Given the description of an element on the screen output the (x, y) to click on. 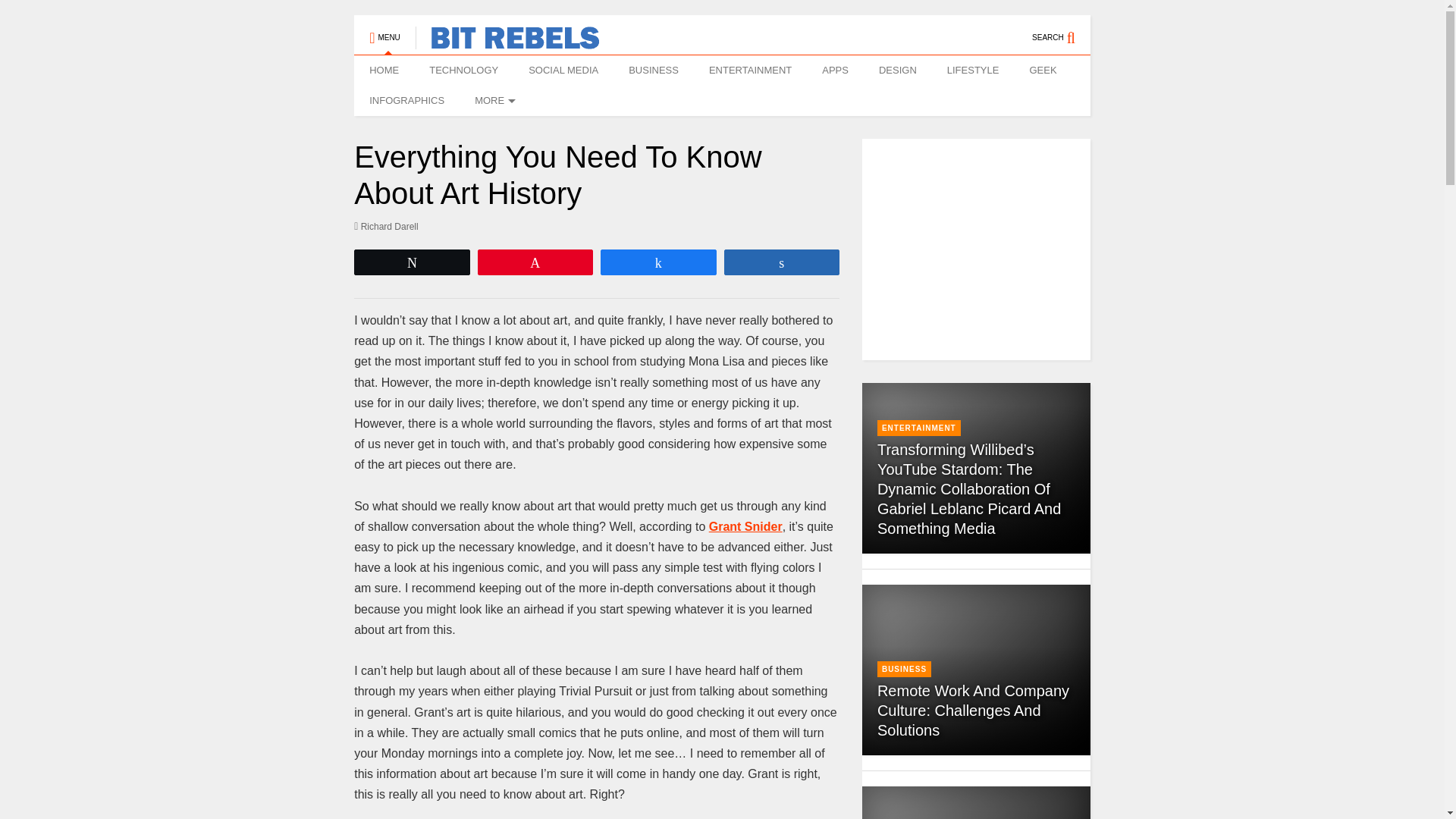
ENTERTAINMENT (750, 70)
APPS (834, 70)
HOME (383, 70)
Grant Snider - Website (746, 526)
Remote Work And Company Culture: Challenges And Solutions (972, 710)
GEEK (1042, 70)
MENU (383, 30)
Bit Rebels (506, 42)
Richard Darell (386, 226)
BUSINESS (653, 70)
LIFESTYLE (972, 70)
TECHNOLOGY (463, 70)
INFOGRAPHICS (406, 100)
DESIGN (897, 70)
SEARCH (1061, 30)
